Given the description of an element on the screen output the (x, y) to click on. 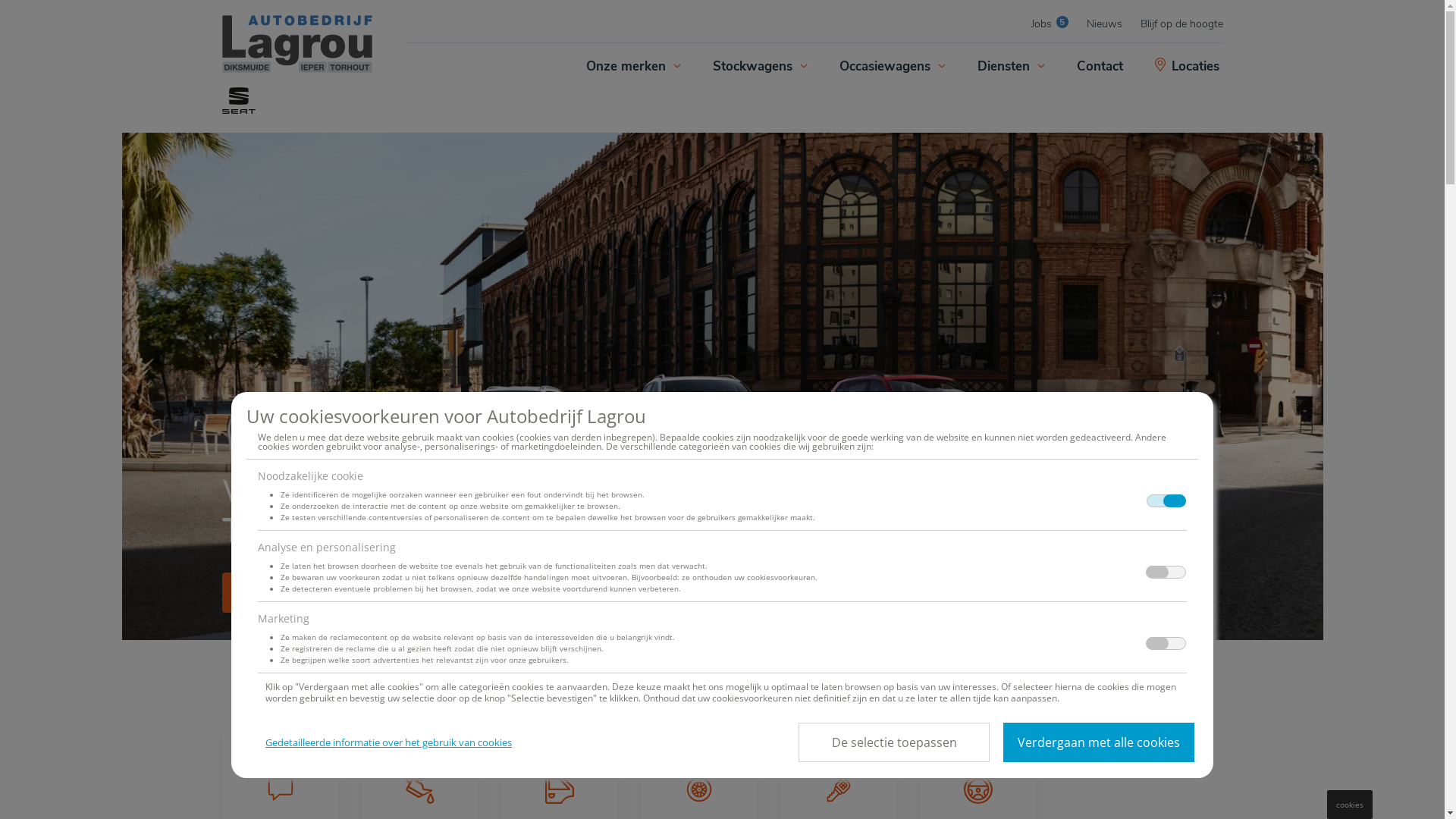
Occasiewagens Element type: text (890, 66)
Check onze SEAT stockwagens Element type: text (331, 592)
Onze merken Element type: text (631, 66)
Gedetailleerde informatie over het gebruik van cookies Element type: text (388, 742)
Stockwagens Element type: text (757, 66)
Contact Element type: text (1099, 66)
Jobs
5 Element type: text (1049, 23)
De selectie toepassen Element type: text (893, 742)
Overslaan en naar de inhoud gaan Element type: text (0, 0)
Nieuws Element type: text (1103, 23)
Blijf op de hoogte Element type: text (1181, 23)
Diensten Element type: text (1008, 66)
Locaties Element type: text (1188, 66)
Verdergaan met alle cookies Element type: text (1098, 742)
